Given the description of an element on the screen output the (x, y) to click on. 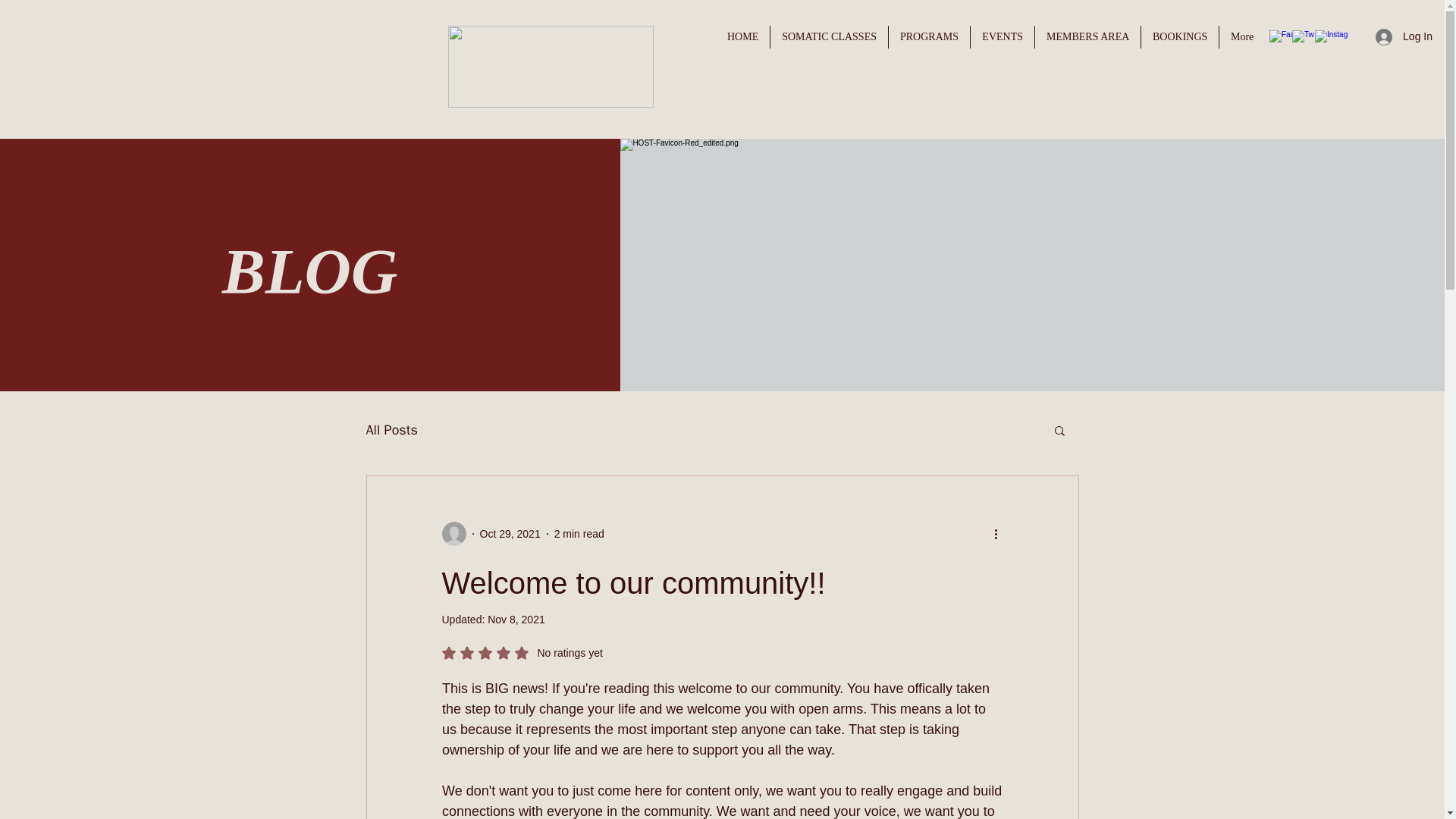
HOST-Secondary Logo-Red.png (550, 66)
Log In (521, 653)
2 min read (1403, 36)
EVENTS (579, 533)
MEMBERS AREA (1002, 36)
HOME (1087, 36)
BOOKINGS (743, 36)
Nov 8, 2021 (1179, 36)
PROGRAMS (515, 619)
SOMATIC CLASSES (928, 36)
All Posts (829, 36)
Oct 29, 2021 (390, 429)
